Given the description of an element on the screen output the (x, y) to click on. 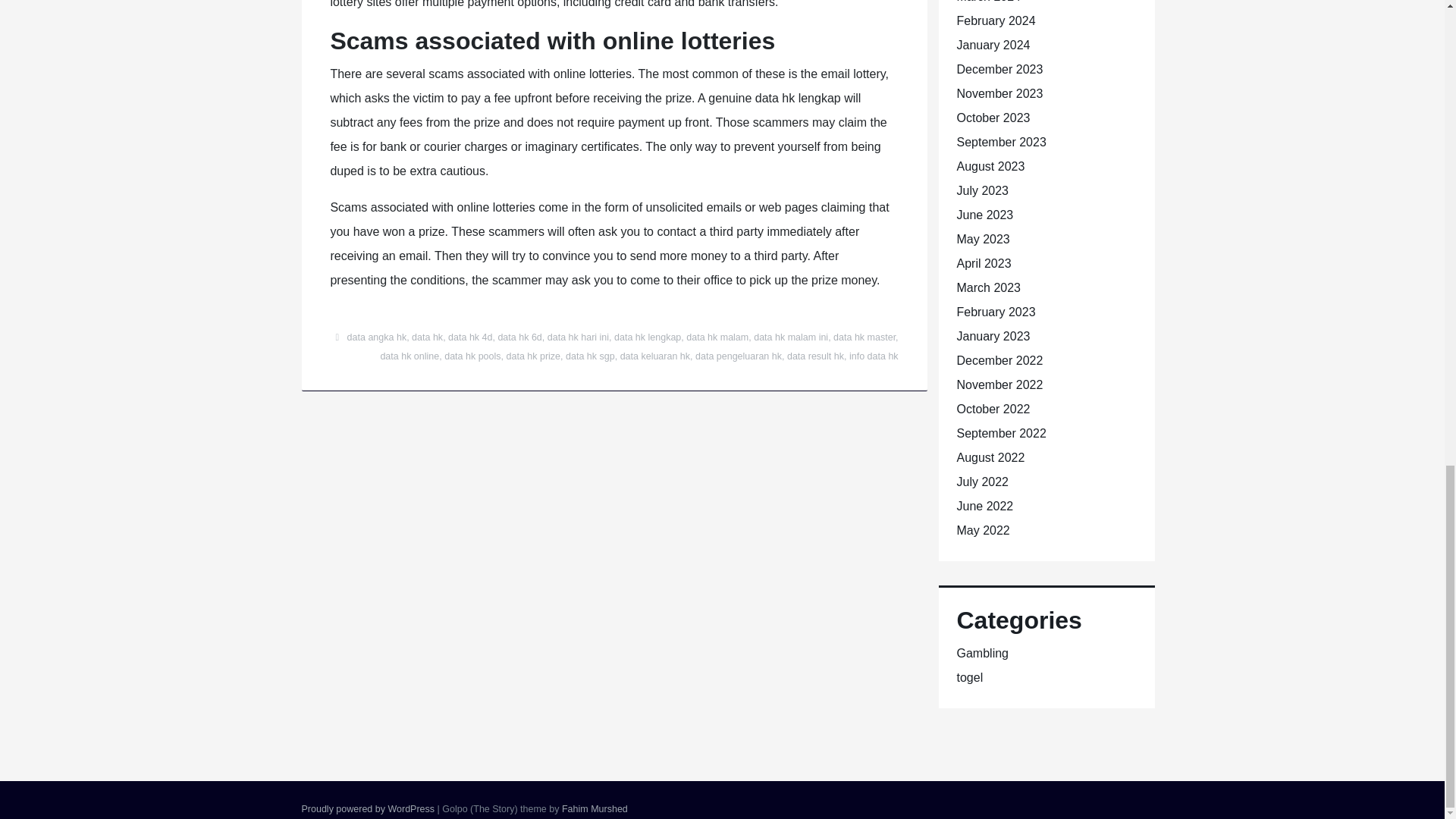
data hk online (409, 356)
data hk hari ini (577, 337)
data result hk (815, 356)
data hk pools (472, 356)
data angka hk (377, 337)
data hk (427, 337)
data hk lengkap (647, 337)
data hk 6d (519, 337)
info data hk (873, 356)
data hk master (863, 337)
